Given the description of an element on the screen output the (x, y) to click on. 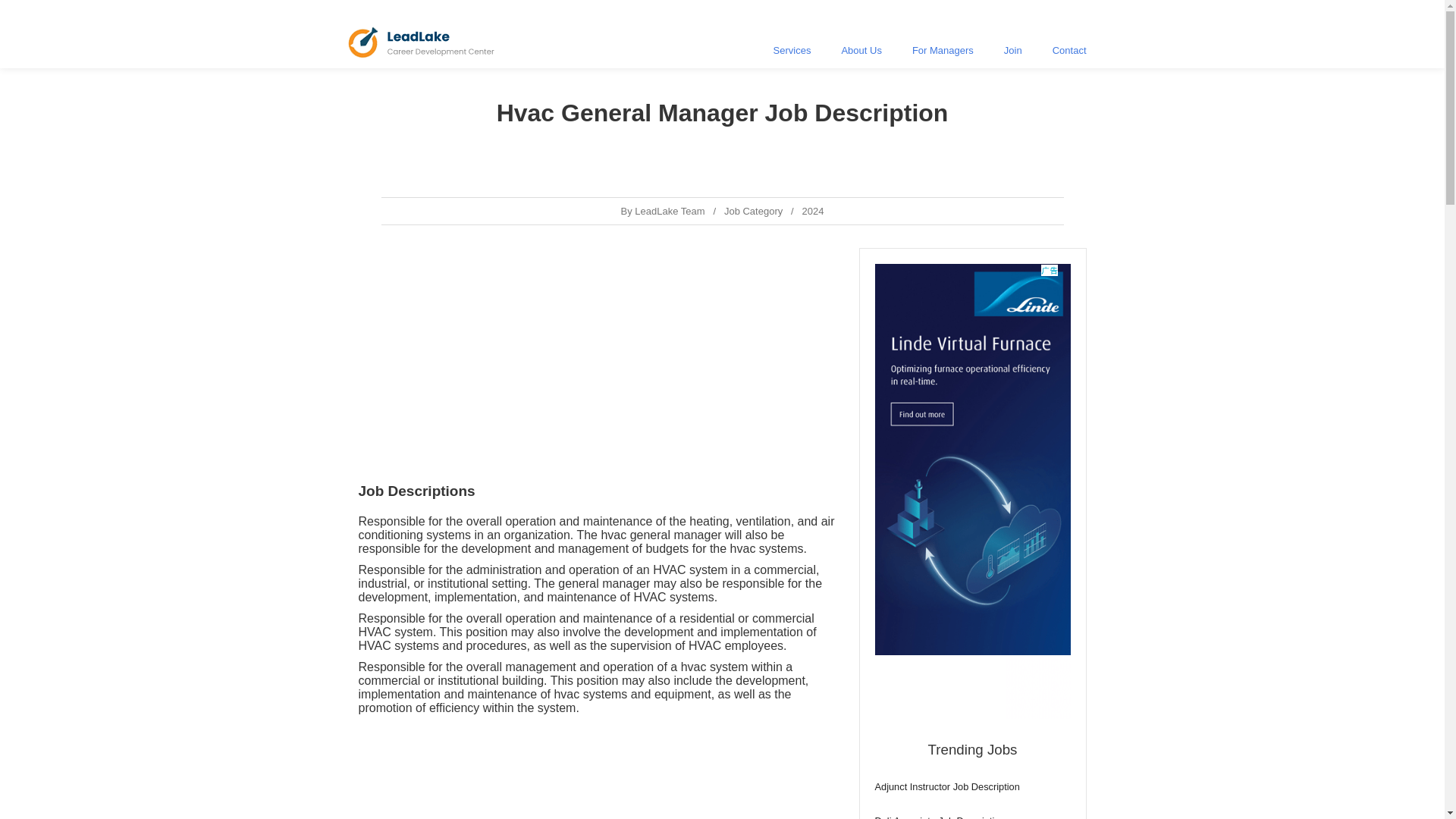
Deli Associate Job Description (972, 816)
About Us (860, 49)
Contact (1069, 49)
Advertisement (972, 491)
Advertisement (596, 770)
For Managers (942, 49)
Advertisement (596, 354)
Services (792, 49)
Join (1012, 49)
Adjunct Instructor Job Description (972, 786)
